Given the description of an element on the screen output the (x, y) to click on. 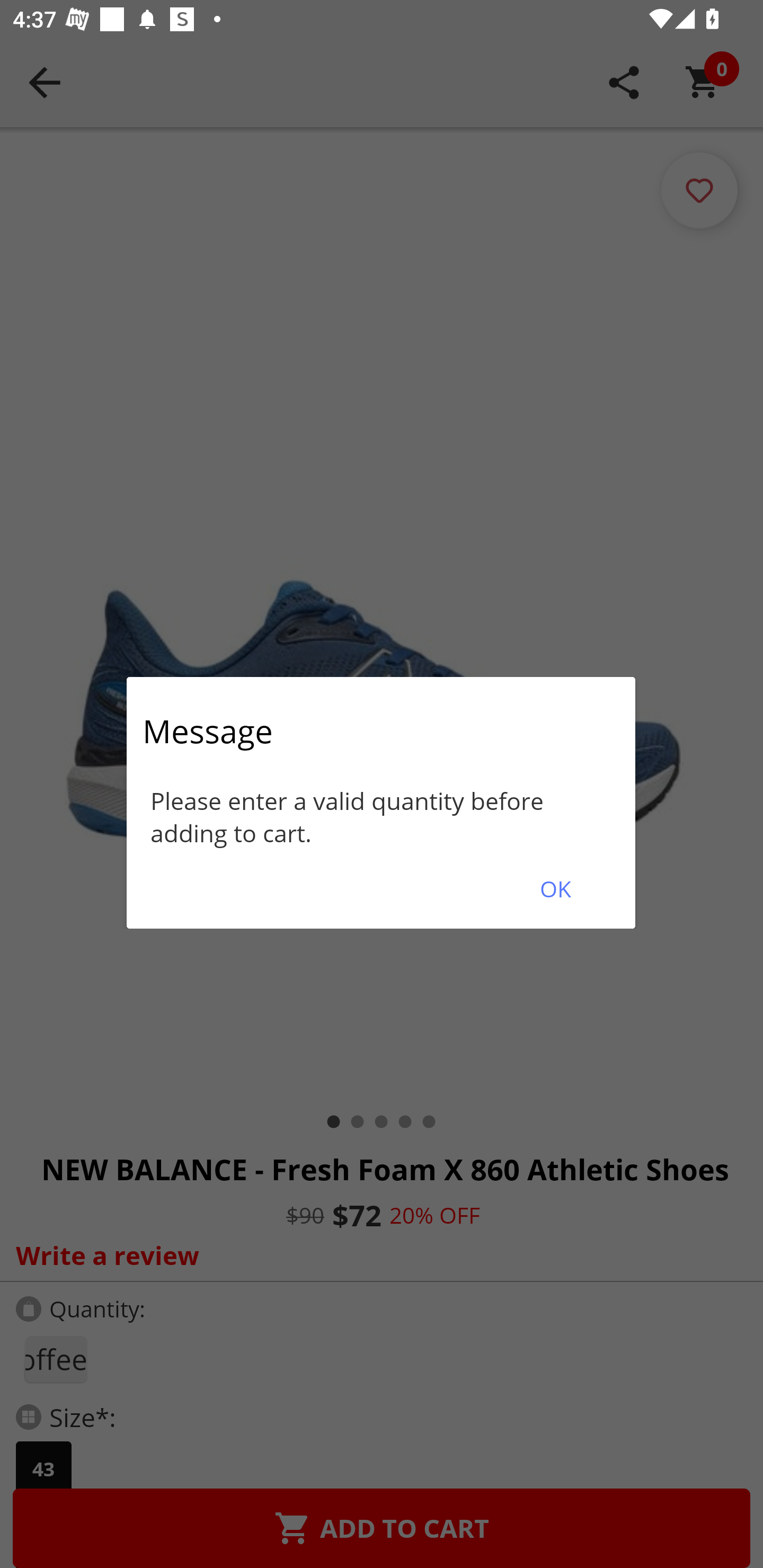
OK (555, 888)
